Given the description of an element on the screen output the (x, y) to click on. 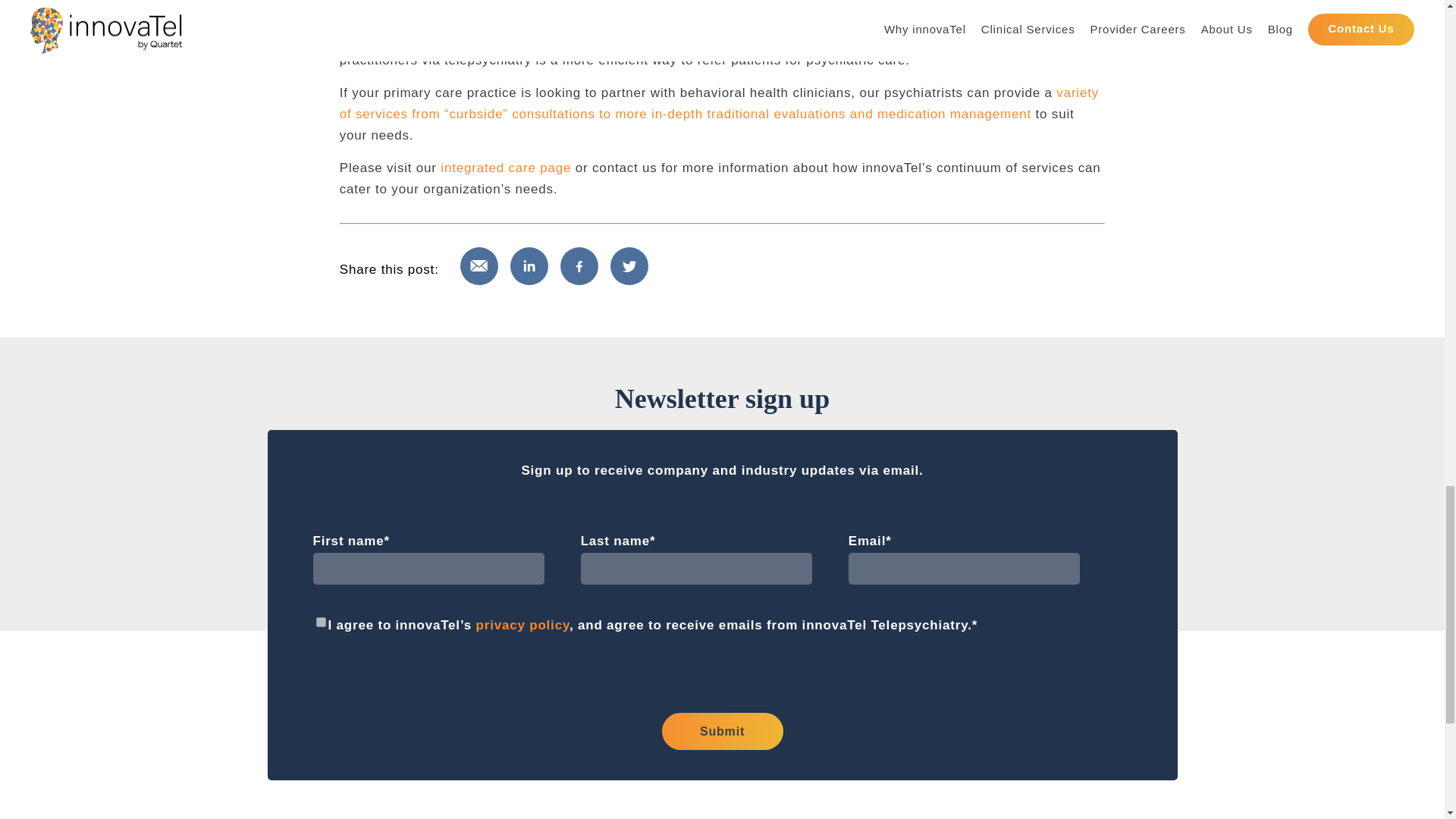
privacy policy (522, 625)
integrated care page (505, 167)
Submit (722, 731)
Submit (722, 731)
true (319, 622)
